Given the description of an element on the screen output the (x, y) to click on. 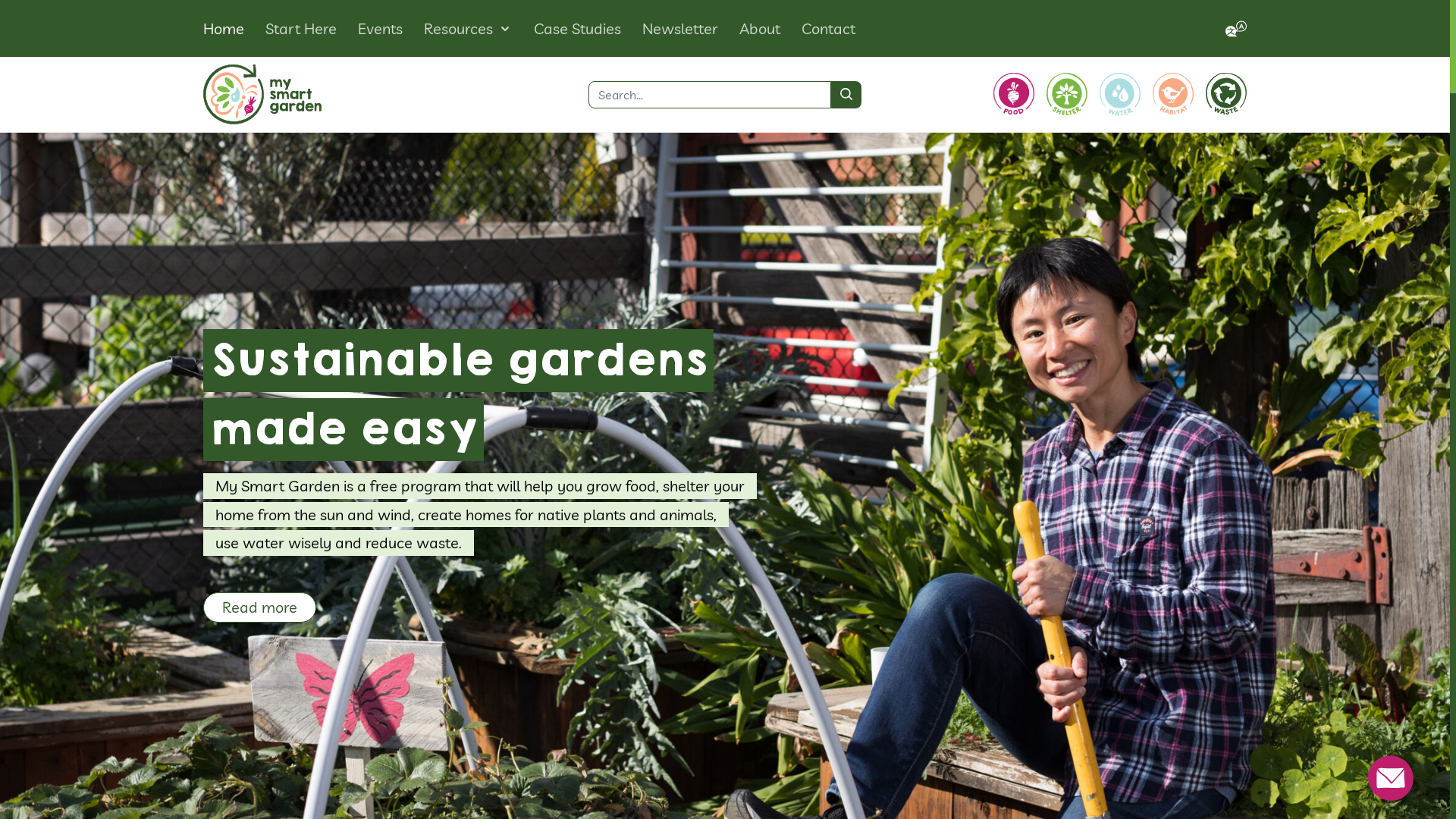
Case Studies Element type: text (577, 28)
Newsletter Element type: text (680, 28)
About Element type: text (759, 28)
Contact Element type: text (828, 28)
Read more Element type: text (259, 607)
Resources Element type: text (457, 28)
Events Element type: text (379, 28)
Start Here Element type: text (300, 28)
Home Element type: text (223, 28)
